Given the description of an element on the screen output the (x, y) to click on. 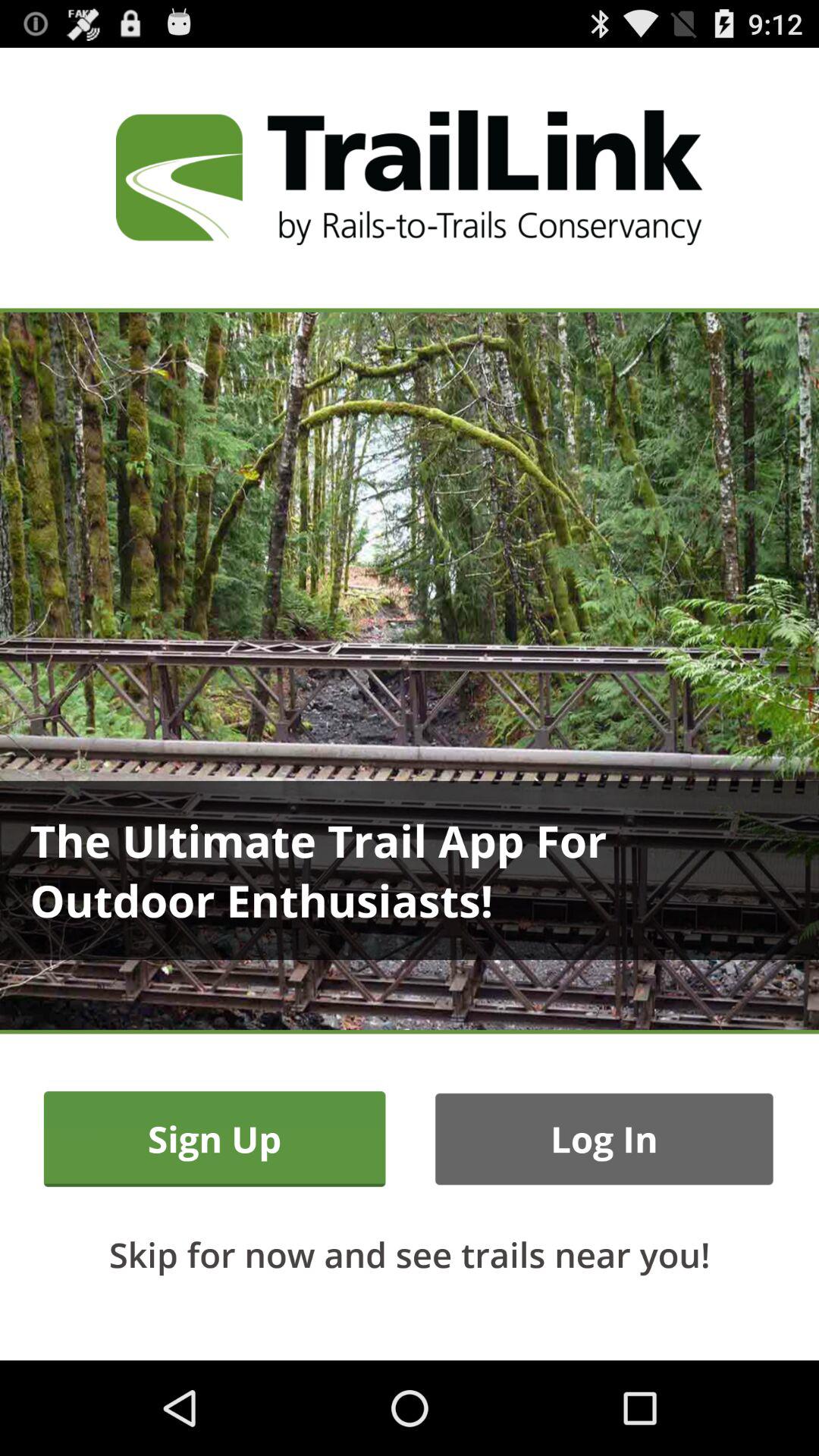
scroll to the log in item (604, 1138)
